Given the description of an element on the screen output the (x, y) to click on. 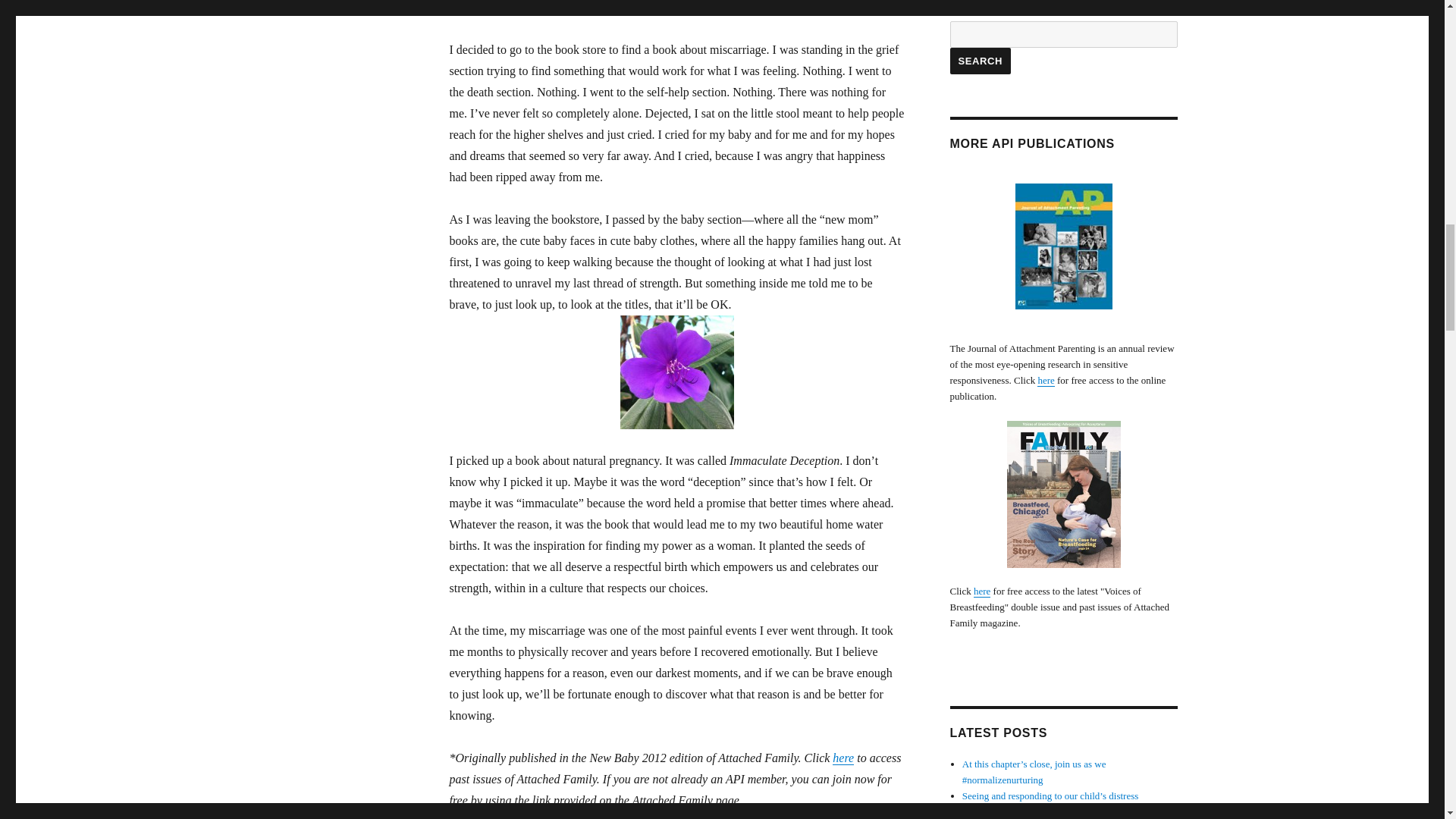
here (842, 757)
Search (979, 60)
